Given the description of an element on the screen output the (x, y) to click on. 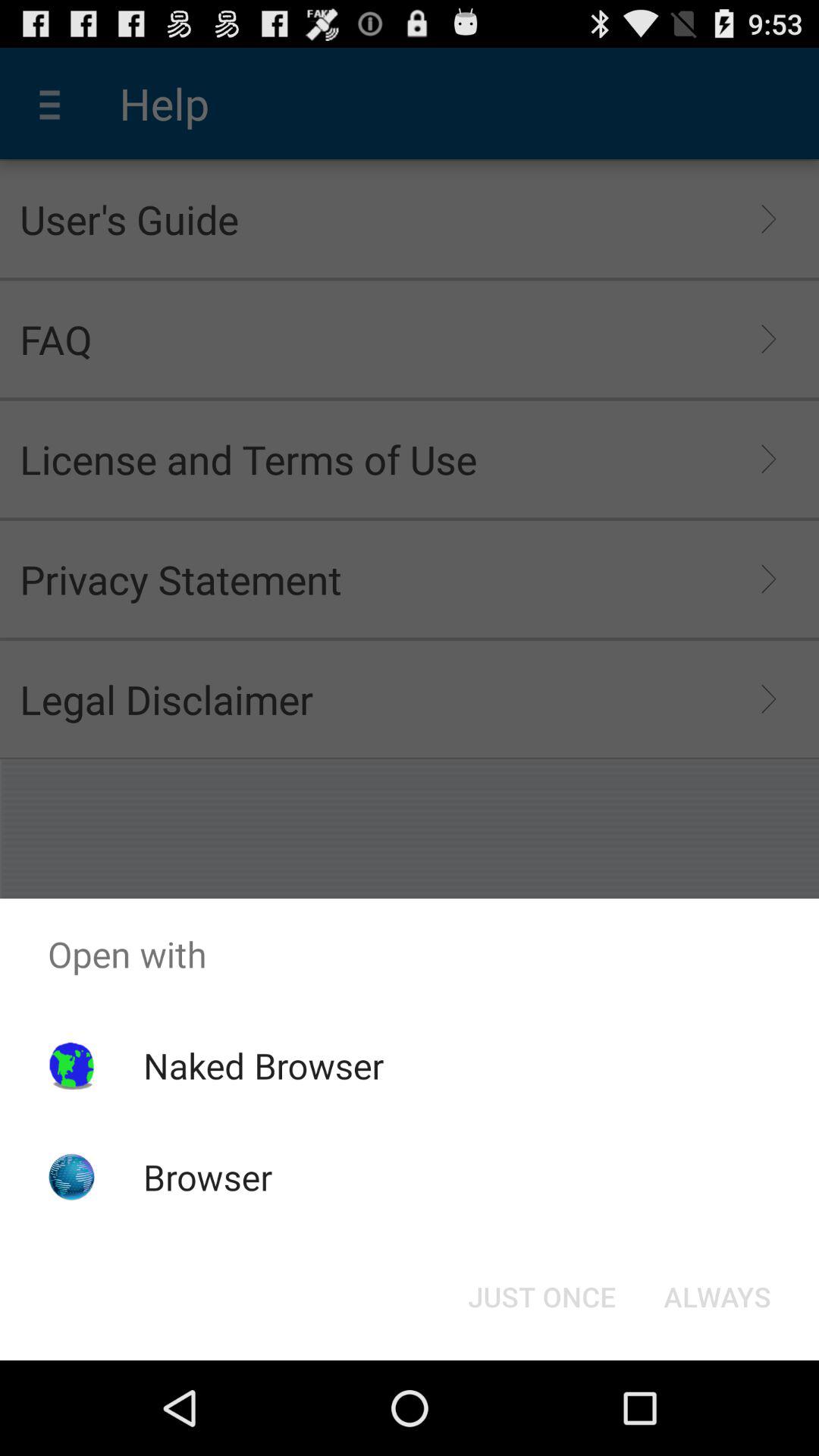
tap the item below the open with item (717, 1296)
